Given the description of an element on the screen output the (x, y) to click on. 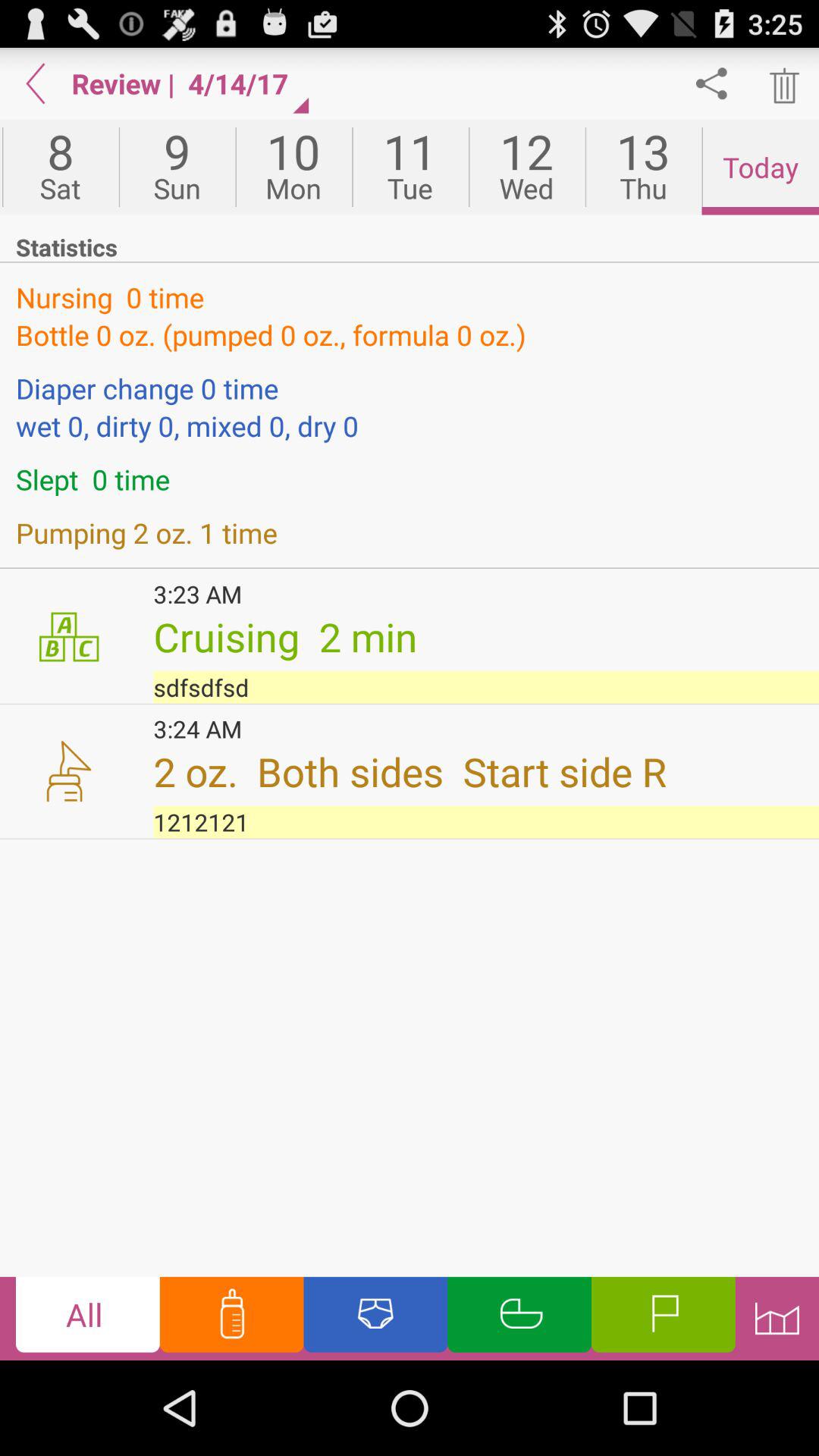
choose the wed (526, 166)
